Given the description of an element on the screen output the (x, y) to click on. 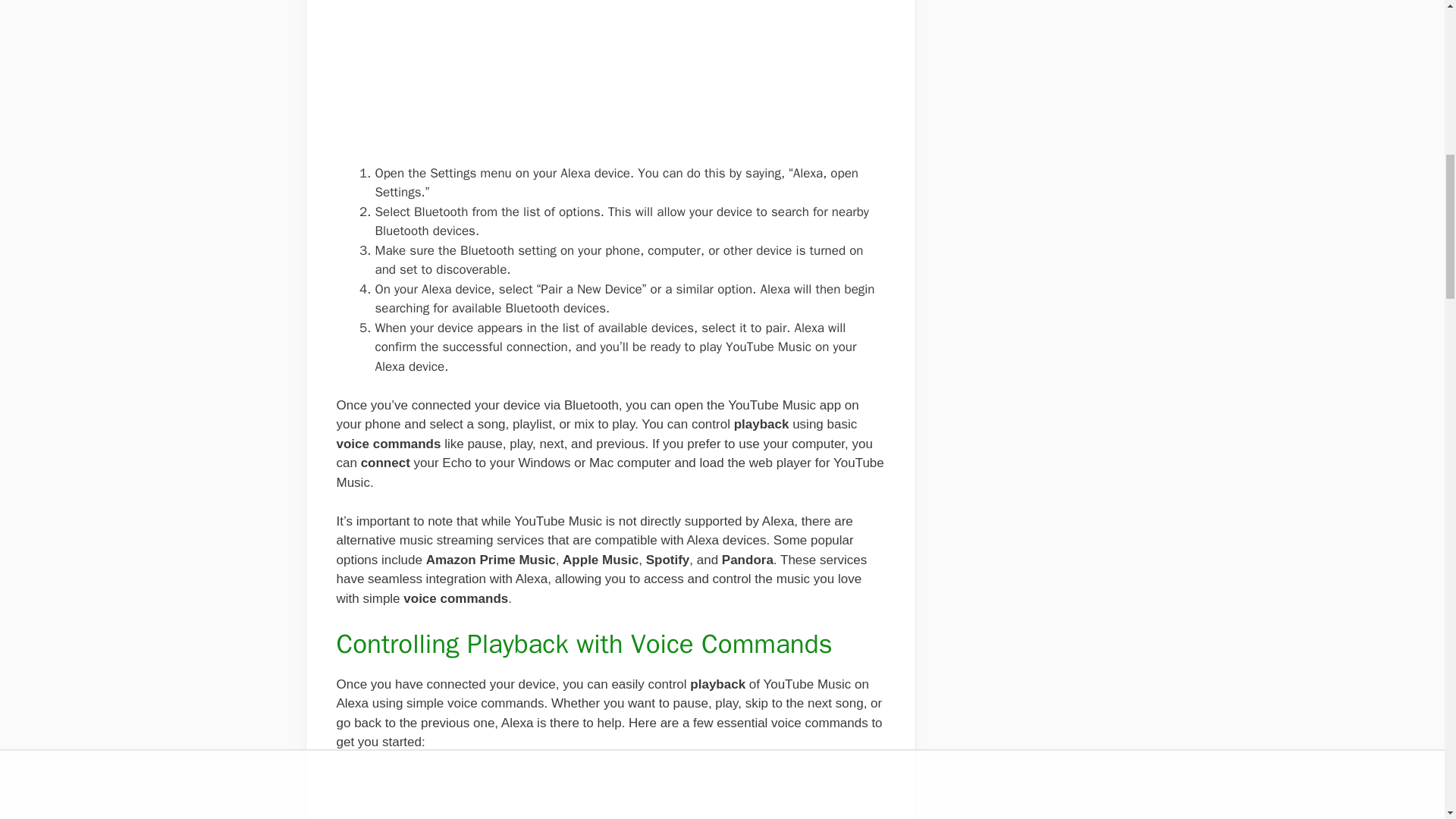
Scroll back to top (1406, 720)
